Given the description of an element on the screen output the (x, y) to click on. 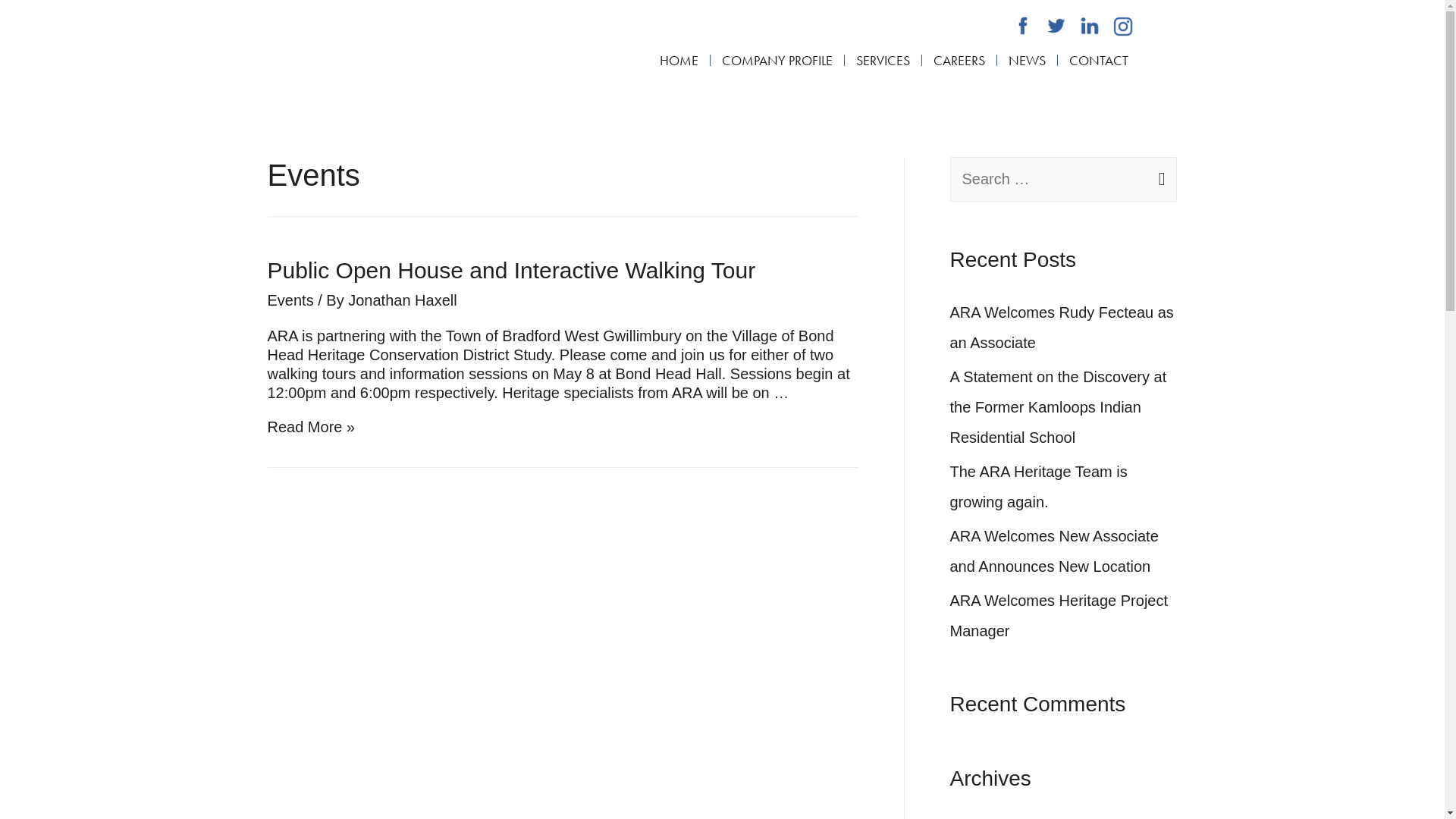
Public Open House and Interactive Walking Tour Element type: text (510, 269)
Events Element type: text (289, 299)
COMPANY PROFILE Element type: text (777, 59)
ARA Welcomes Heritage Project Manager Element type: text (1058, 615)
The ARA Heritage Team is growing again. Element type: text (1037, 486)
ARA Welcomes New Associate and Announces New Location Element type: text (1053, 550)
Search Element type: text (1159, 180)
NEWS Element type: text (1027, 59)
Jonathan Haxell Element type: text (402, 299)
HOME Element type: text (678, 59)
CONTACT Element type: text (1098, 59)
ARA Welcomes Rudy Fecteau as an Associate Element type: text (1061, 327)
CAREERS Element type: text (959, 59)
SERVICES Element type: text (882, 59)
